Given the description of an element on the screen output the (x, y) to click on. 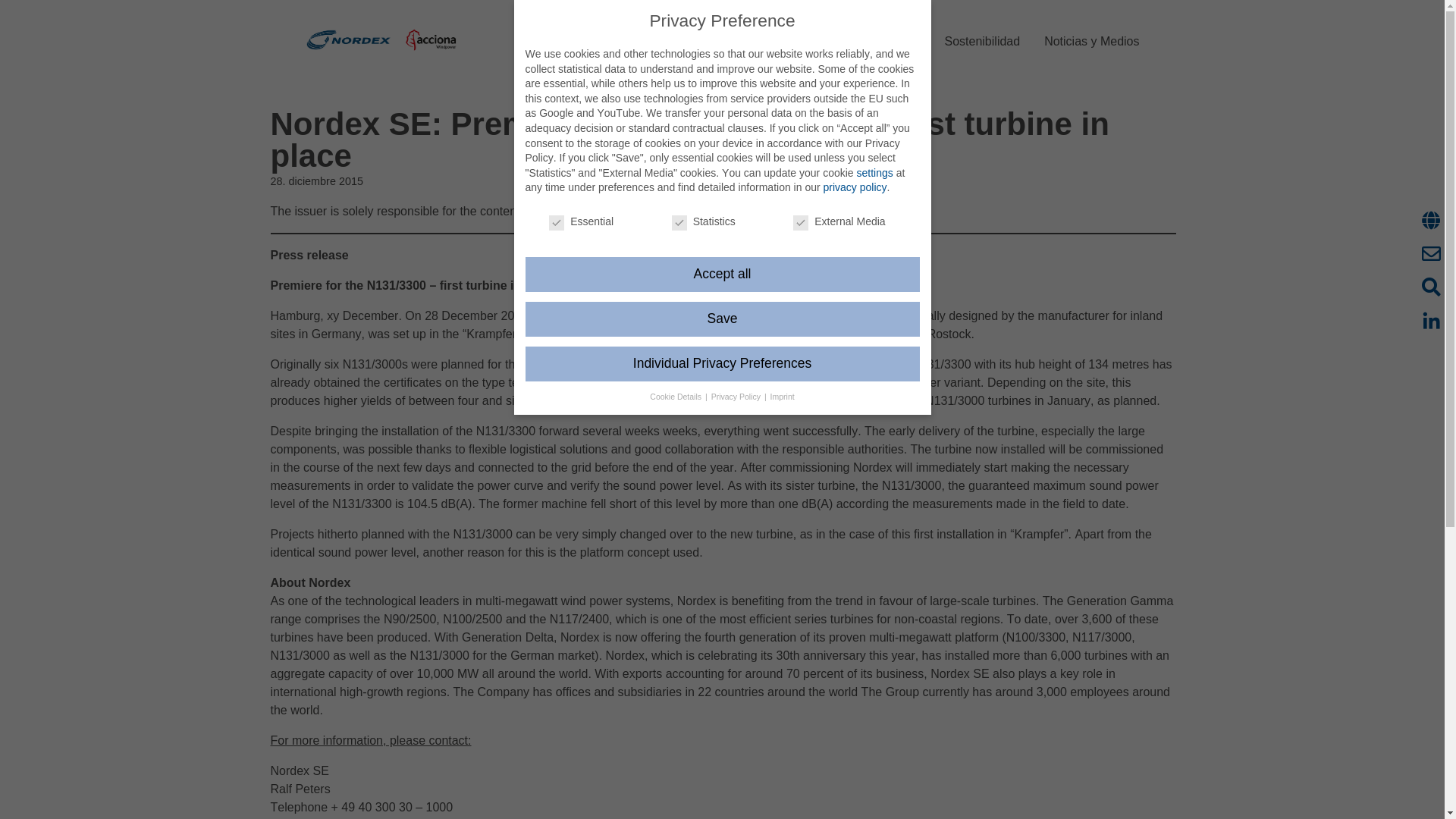
Service (834, 41)
Productos (762, 41)
Empresa (686, 41)
Noticias y Medios (1091, 41)
Carrera (898, 41)
Sostenibilidad (982, 41)
